Given the description of an element on the screen output the (x, y) to click on. 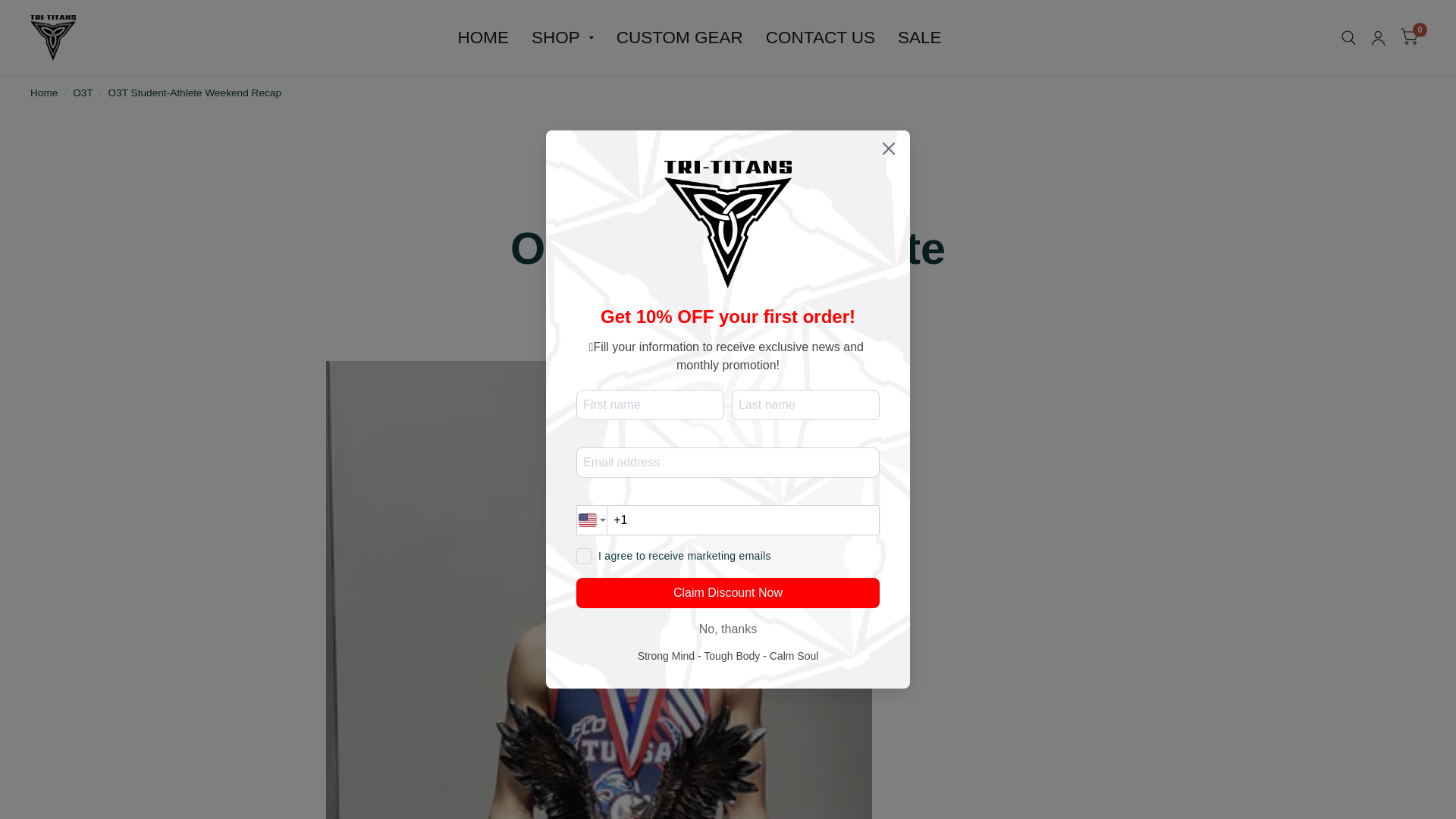
SHOP (562, 37)
HOME (482, 37)
